Given the description of an element on the screen output the (x, y) to click on. 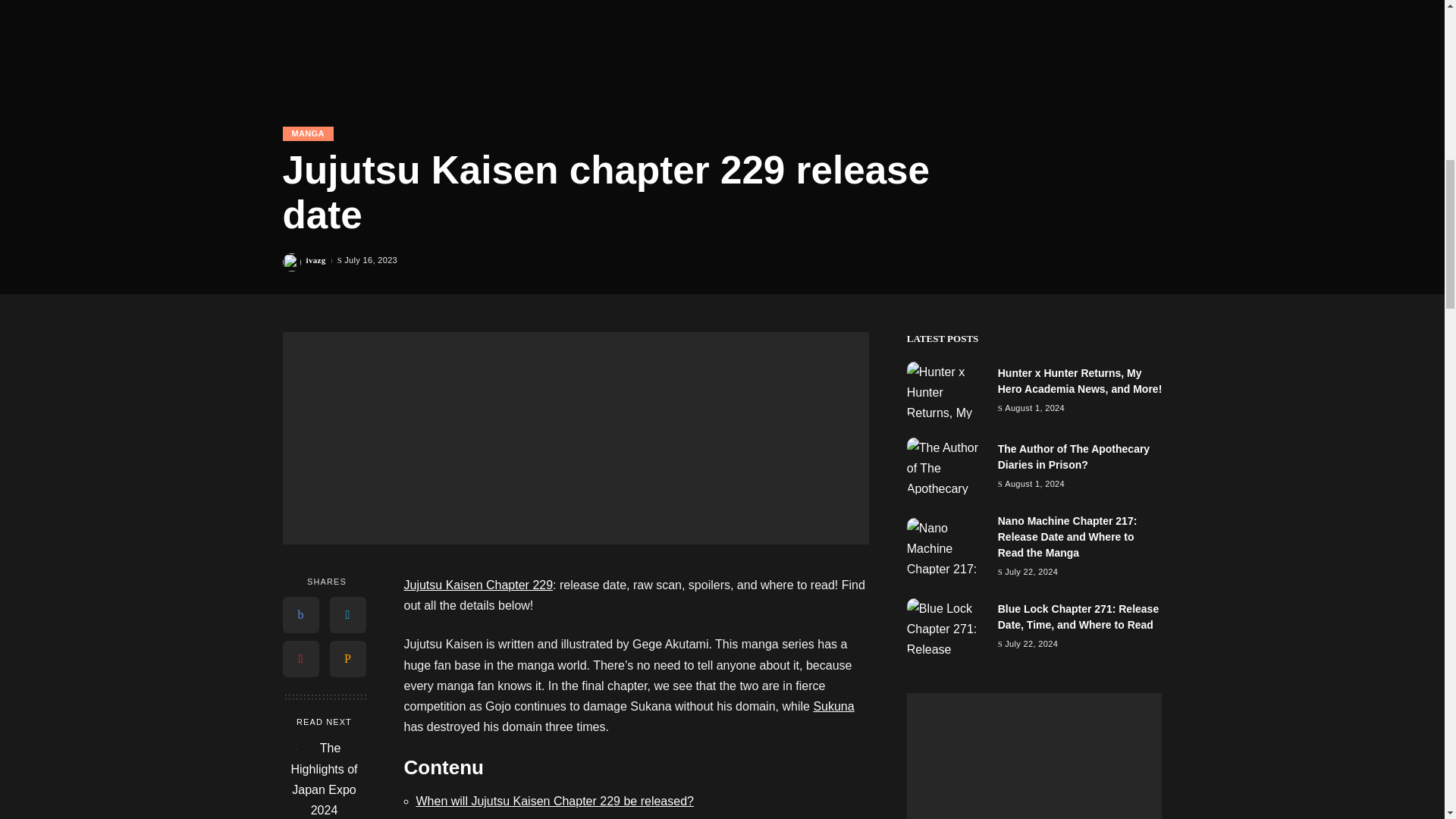
MANGA (307, 133)
ivazg (315, 260)
